Given the description of an element on the screen output the (x, y) to click on. 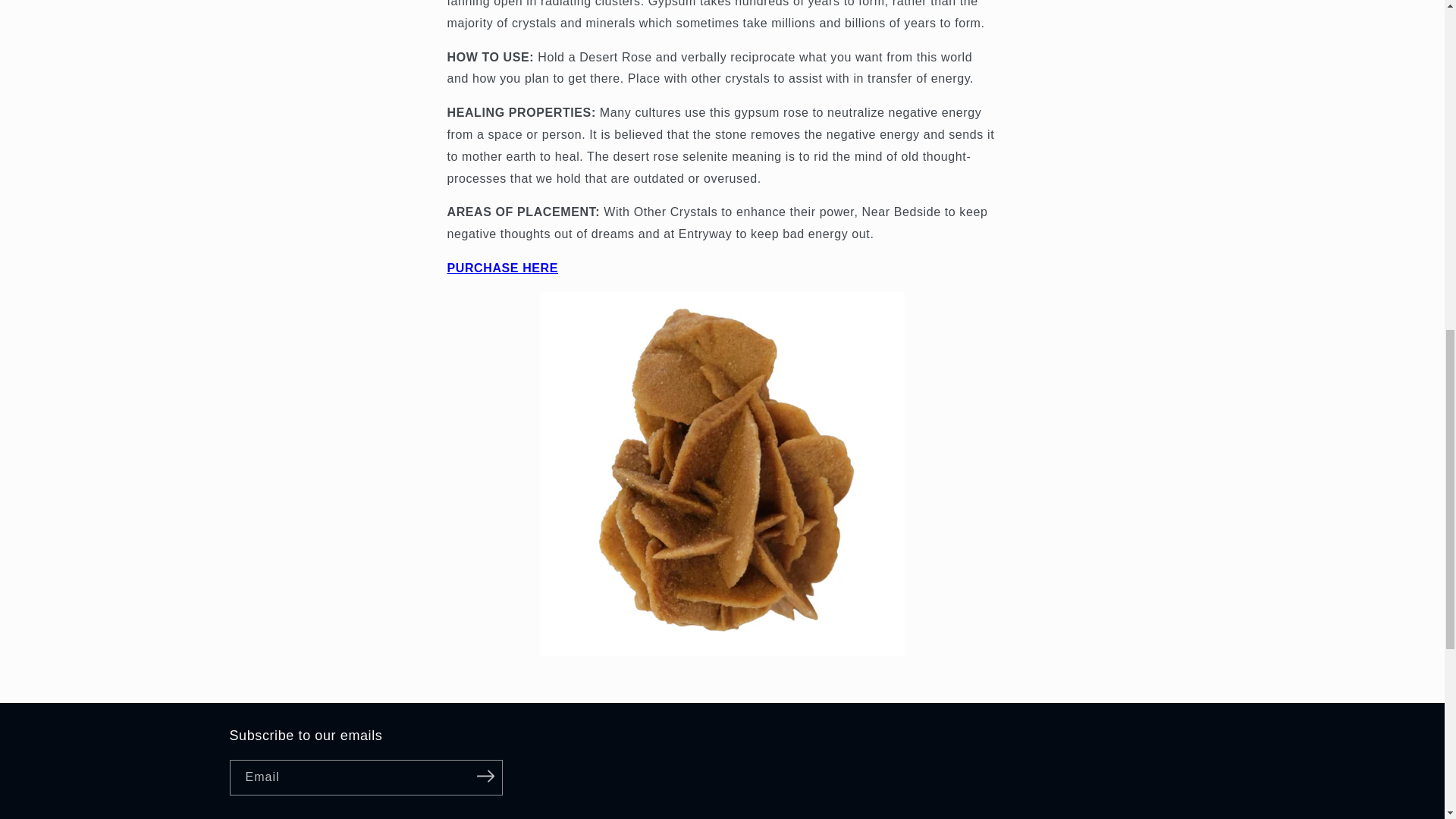
PURCHASE HERE (502, 267)
